Given the description of an element on the screen output the (x, y) to click on. 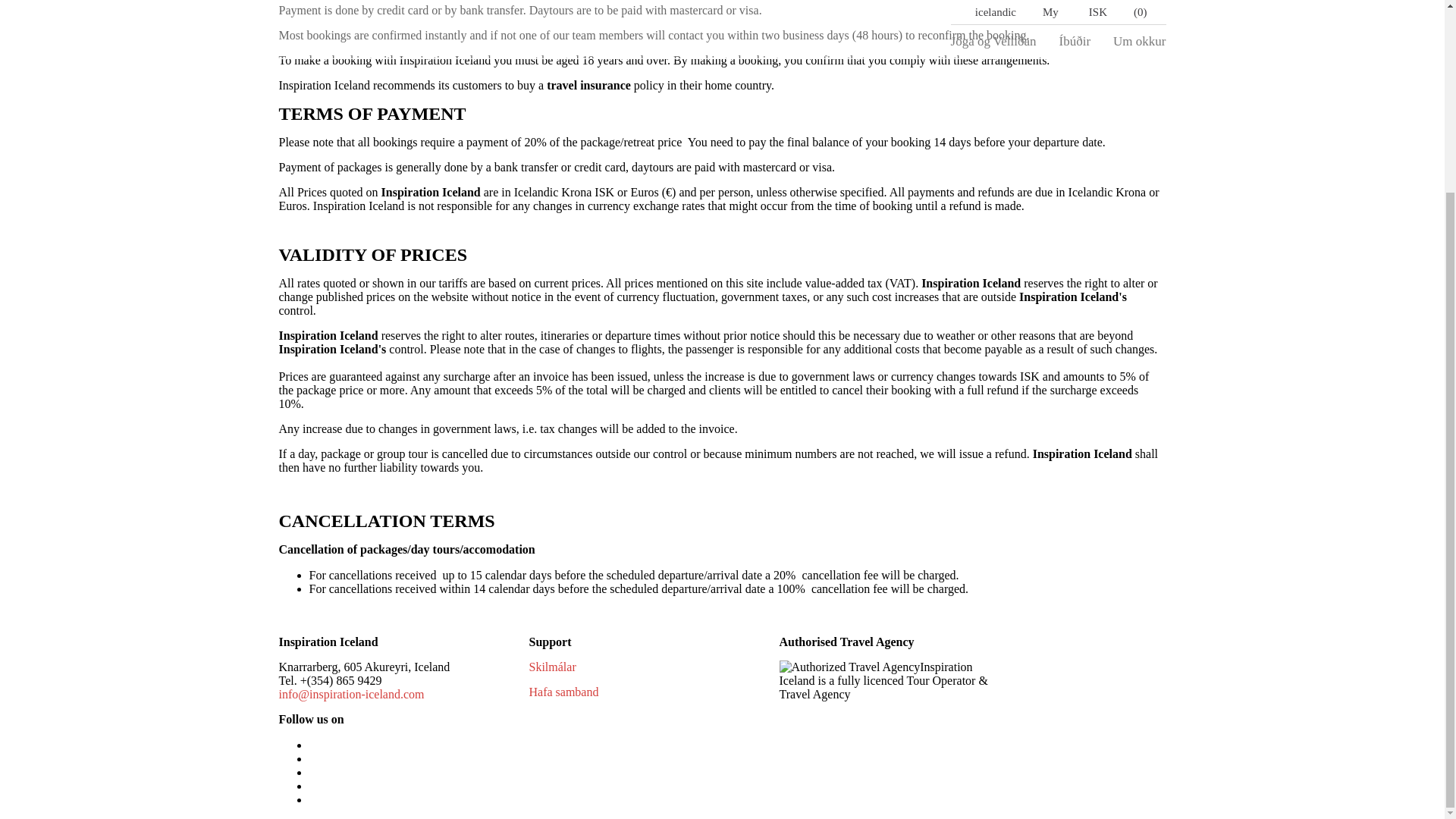
Hafa samband (563, 691)
Hafa samband (563, 691)
